Given the description of an element on the screen output the (x, y) to click on. 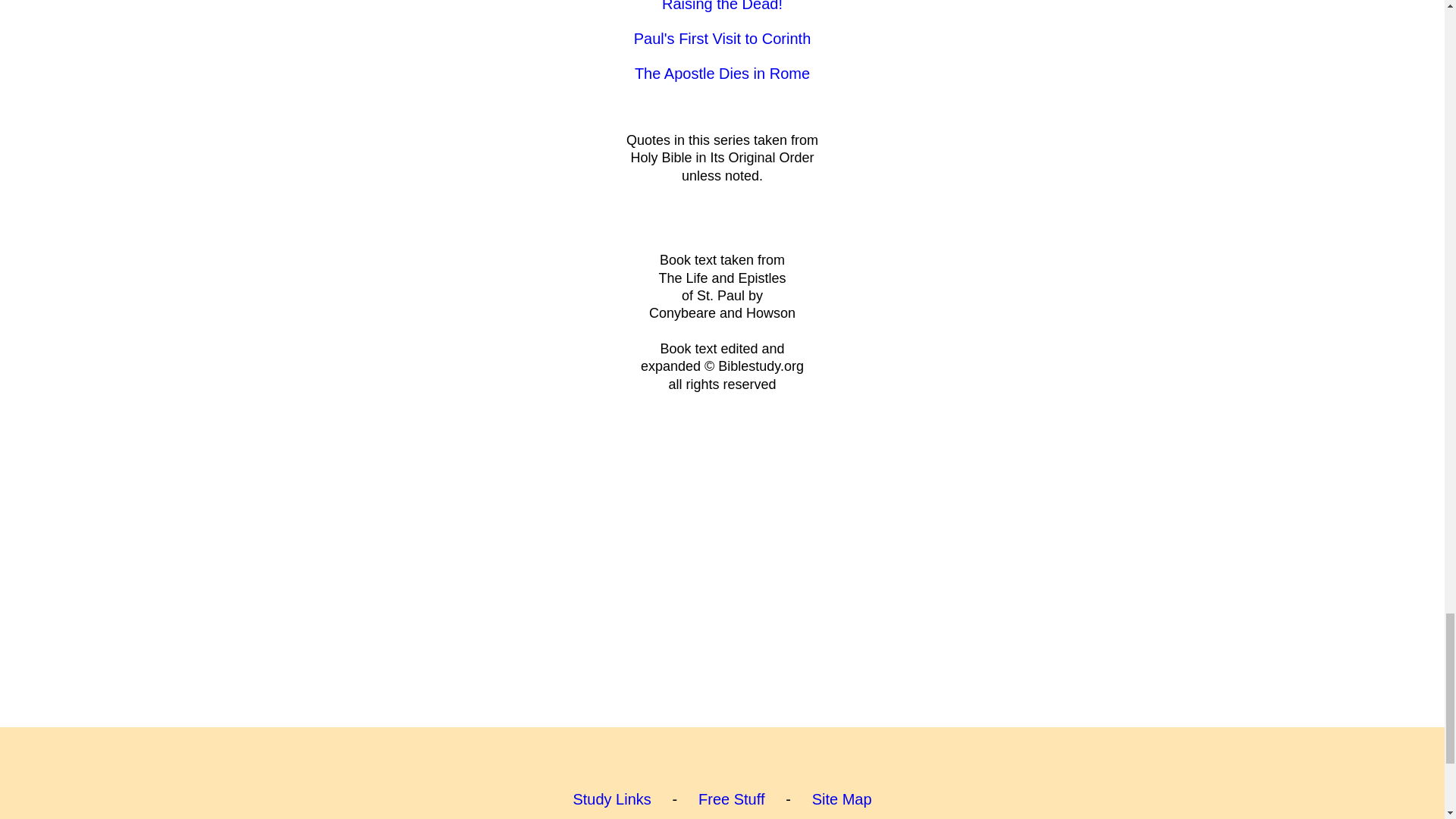
Paul's First Visit to Corinth (721, 38)
Site Map (842, 799)
Study Links (611, 799)
Raising the Dead! (722, 6)
Free Stuff (731, 799)
The Apostle Dies in Rome (721, 73)
